Given the description of an element on the screen output the (x, y) to click on. 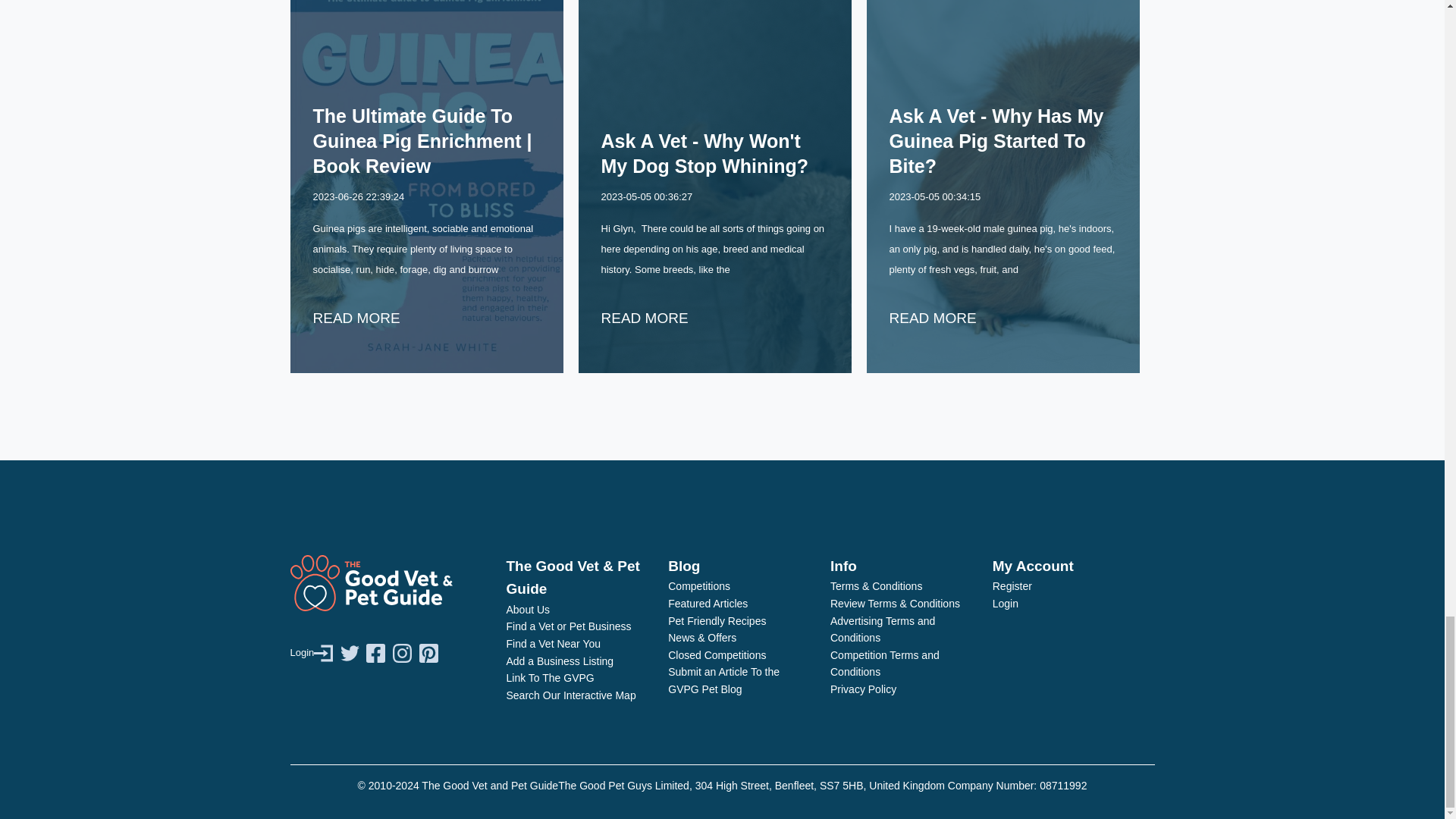
Competition Terms and Conditions (884, 663)
Advertising Terms and Conditions (881, 629)
